Given the description of an element on the screen output the (x, y) to click on. 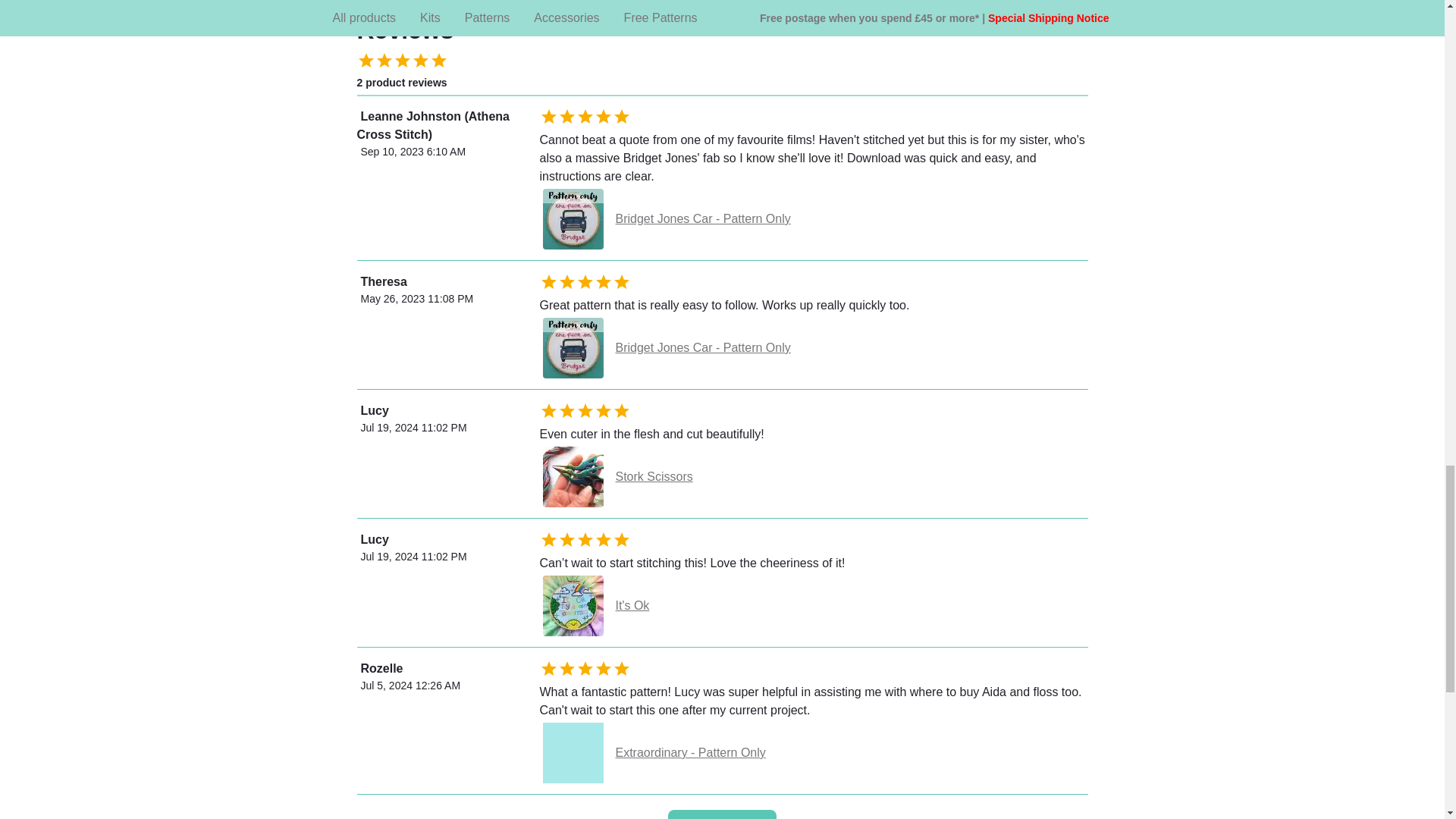
Bridget Jones Car - Pattern Only (813, 218)
Red (933, 7)
Stork Scissors (813, 476)
Bridget Jones Car - Pattern Only (813, 347)
